Given the description of an element on the screen output the (x, y) to click on. 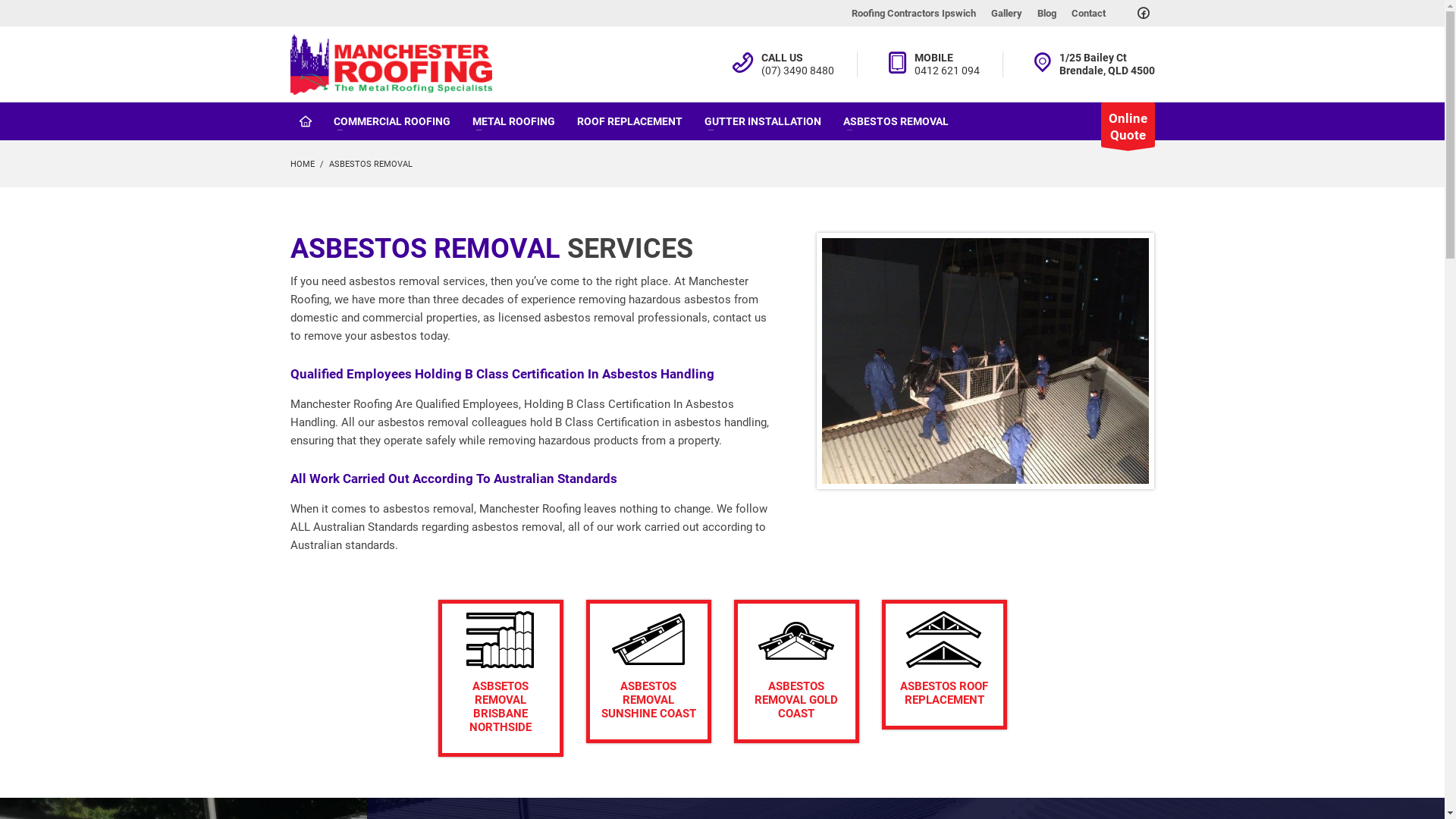
Blog Element type: text (1046, 13)
ASBESTOS REMOVAL GOLD COAST Element type: text (796, 671)
GUTTER INSTALLATION Element type: text (761, 121)
MOBILE
0412 621 094 Element type: text (946, 63)
Manchester Roofing Element type: hover (390, 64)
ASBESTOS ROOF REPLACEMENT Element type: text (943, 664)
Asbestos Removal Specialists Element type: hover (985, 360)
ASBSETOS REMOVAL BRISBANE NORTHSIDE Element type: text (500, 677)
ROOF REPLACEMENT Element type: text (628, 121)
ASBESTOS REMOVAL SUNSHINE COAST Element type: text (647, 671)
CALL US
(07) 3490 8480 Element type: text (797, 63)
Online
Quote Element type: text (1127, 124)
Asbsetos Removal Brisbane Northside Element type: hover (500, 639)
Roofing Contractors Ipswich Element type: text (912, 13)
Gallery Element type: text (1005, 13)
Asbestos Removal Gold Coast Element type: hover (796, 639)
HOME Element type: text (301, 164)
Contact Element type: text (1087, 13)
Facebook Element type: hover (1142, 12)
ASBESTOS REMOVAL Element type: text (895, 121)
COMMERCIAL ROOFING Element type: text (391, 121)
B Class Certification In Asbestos Handling Element type: text (511, 413)
Asbestos Removal Sunshine Coast Element type: hover (648, 639)
METAL ROOFING Element type: text (512, 121)
Roof Replacement Element type: hover (944, 639)
